Given the description of an element on the screen output the (x, y) to click on. 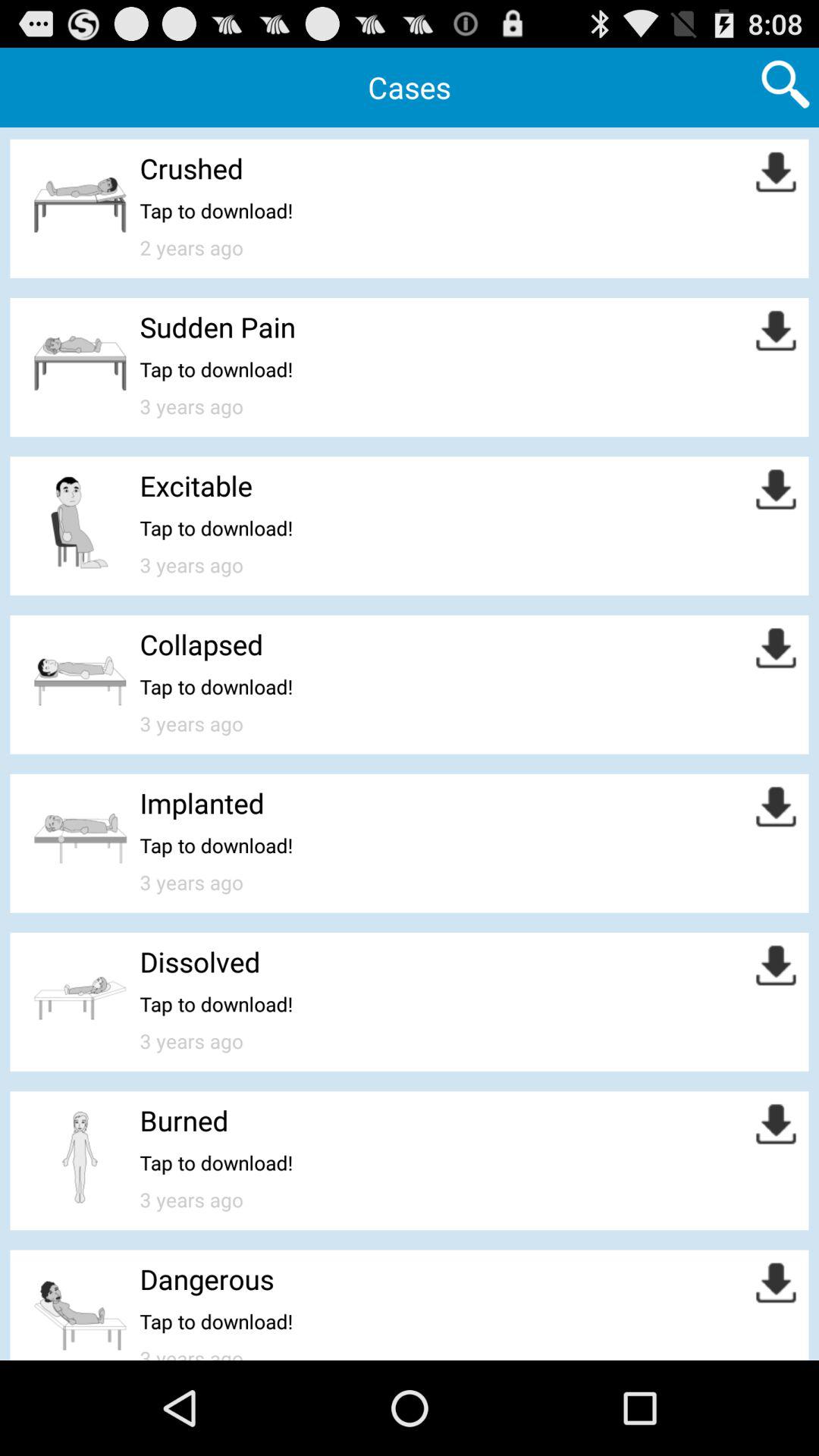
tap icon above the tap to download! (201, 644)
